Given the description of an element on the screen output the (x, y) to click on. 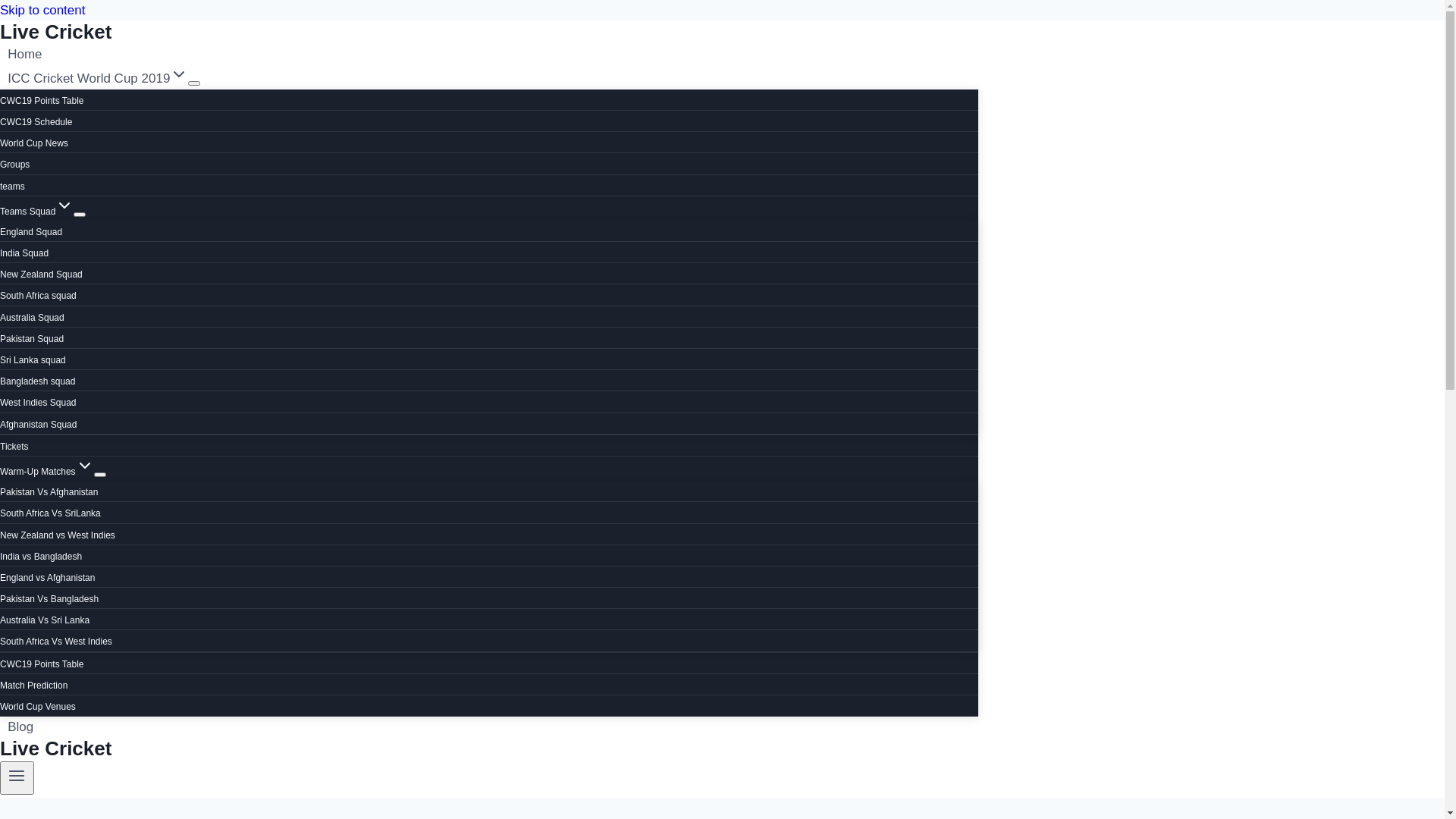
England Squad Element type: text (31, 231)
West Indies Squad Element type: text (38, 402)
South Africa squad Element type: text (38, 295)
Warm-Up MatchesExpand Element type: text (47, 471)
Blog Element type: text (20, 726)
Tickets Element type: text (14, 446)
South Africa Vs West Indies Element type: text (56, 641)
teams Element type: text (12, 185)
Toggle Menu Element type: text (17, 777)
ICC Cricket World Cup 2019Expand Element type: text (98, 78)
World Cup Venues Element type: text (37, 706)
Australia Vs Sri Lanka Element type: text (44, 619)
Live Cricket Element type: text (489, 748)
Australia Squad Element type: text (32, 317)
CWC19 Schedule Element type: text (36, 121)
Bangladesh squad Element type: text (37, 381)
Pakistan Vs Bangladesh Element type: text (49, 598)
Live Cricket Element type: text (489, 31)
Teams SquadExpand Element type: text (36, 211)
Pakistan Squad Element type: text (31, 338)
Pakistan Vs Afghanistan Element type: text (48, 491)
New Zealand vs West Indies Element type: text (57, 534)
England vs Afghanistan Element type: text (47, 577)
Match Prediction Element type: text (33, 685)
Groups Element type: text (14, 164)
CWC19 Points Table Element type: text (42, 663)
Afghanistan Squad Element type: text (38, 424)
New Zealand Squad Element type: text (41, 274)
Sri Lanka squad Element type: text (32, 359)
India vs Bangladesh Element type: text (40, 556)
Skip to content Element type: text (42, 10)
World Cup News Element type: text (34, 142)
Home Element type: text (25, 54)
South Africa Vs SriLanka Element type: text (50, 512)
CWC19 Points Table Element type: text (42, 100)
India Squad Element type: text (24, 252)
